Given the description of an element on the screen output the (x, y) to click on. 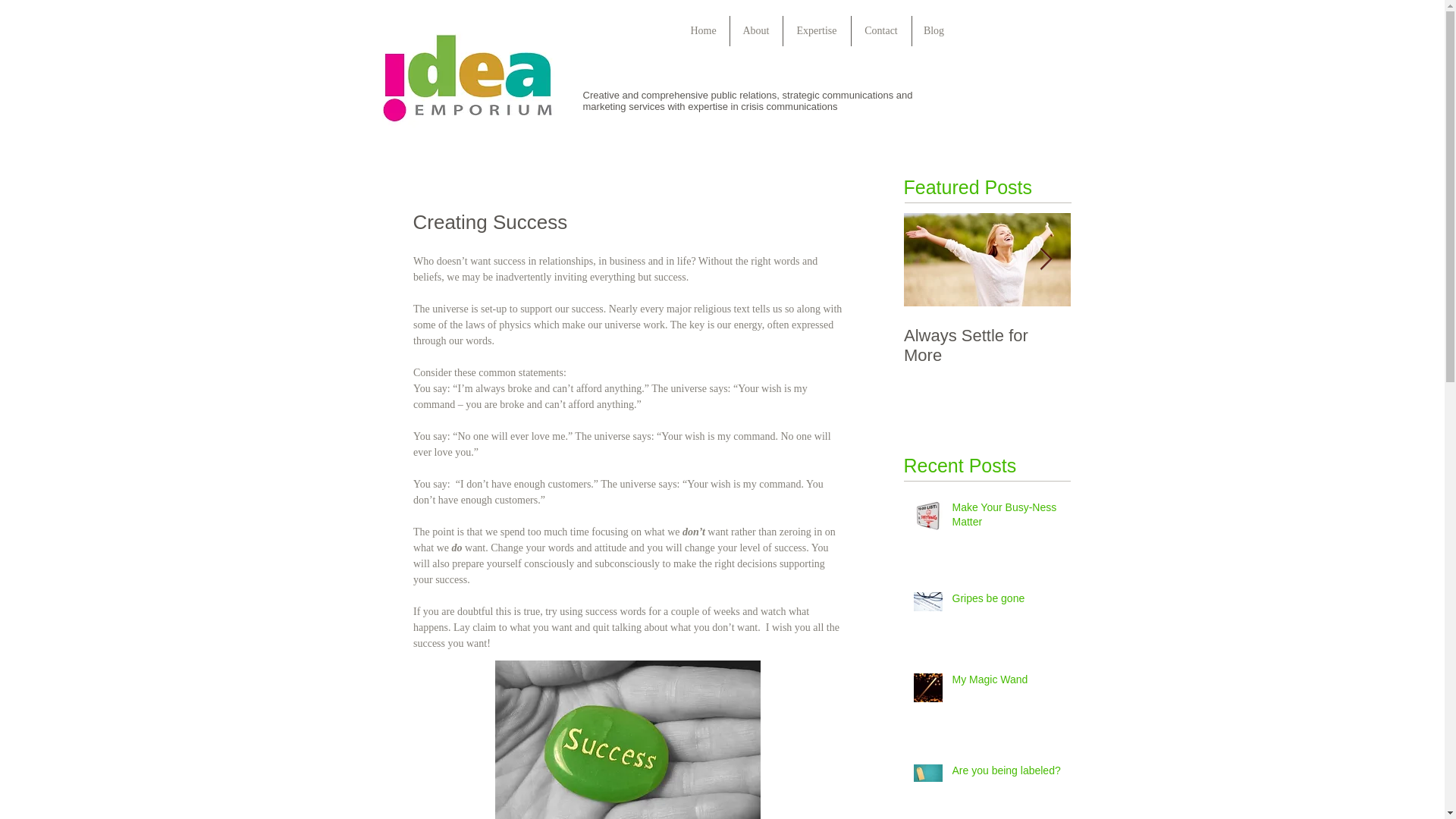
Contact (880, 30)
Are you being labeled? (1006, 773)
Make Your Busy-Ness Matter (1006, 518)
Expertise (816, 30)
It's the most I can do (1153, 335)
Home (703, 30)
Gripes be gone (1006, 601)
My Magic Wand (1006, 682)
Always Settle for More (987, 345)
Marketplace of creative thought (467, 77)
About (755, 30)
Blog (933, 30)
